Given the description of an element on the screen output the (x, y) to click on. 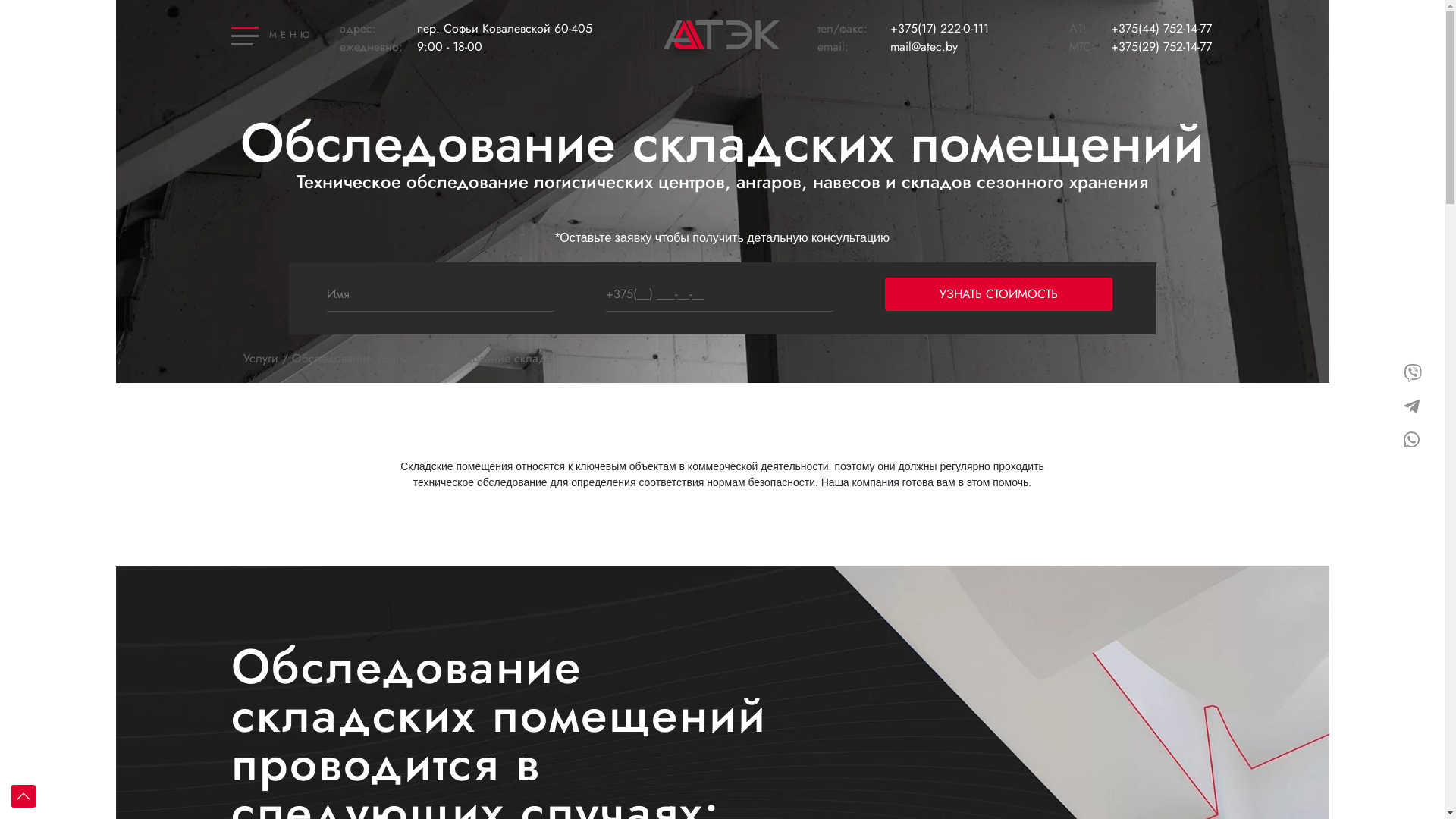
+375(17) 222-0-111 Element type: text (973, 28)
mail@atec.by Element type: text (973, 46)
+375(44) 752-14-77 Element type: text (1162, 28)
Atek Element type: text (650, 69)
+375(29) 752-14-77 Element type: text (1162, 46)
